Given the description of an element on the screen output the (x, y) to click on. 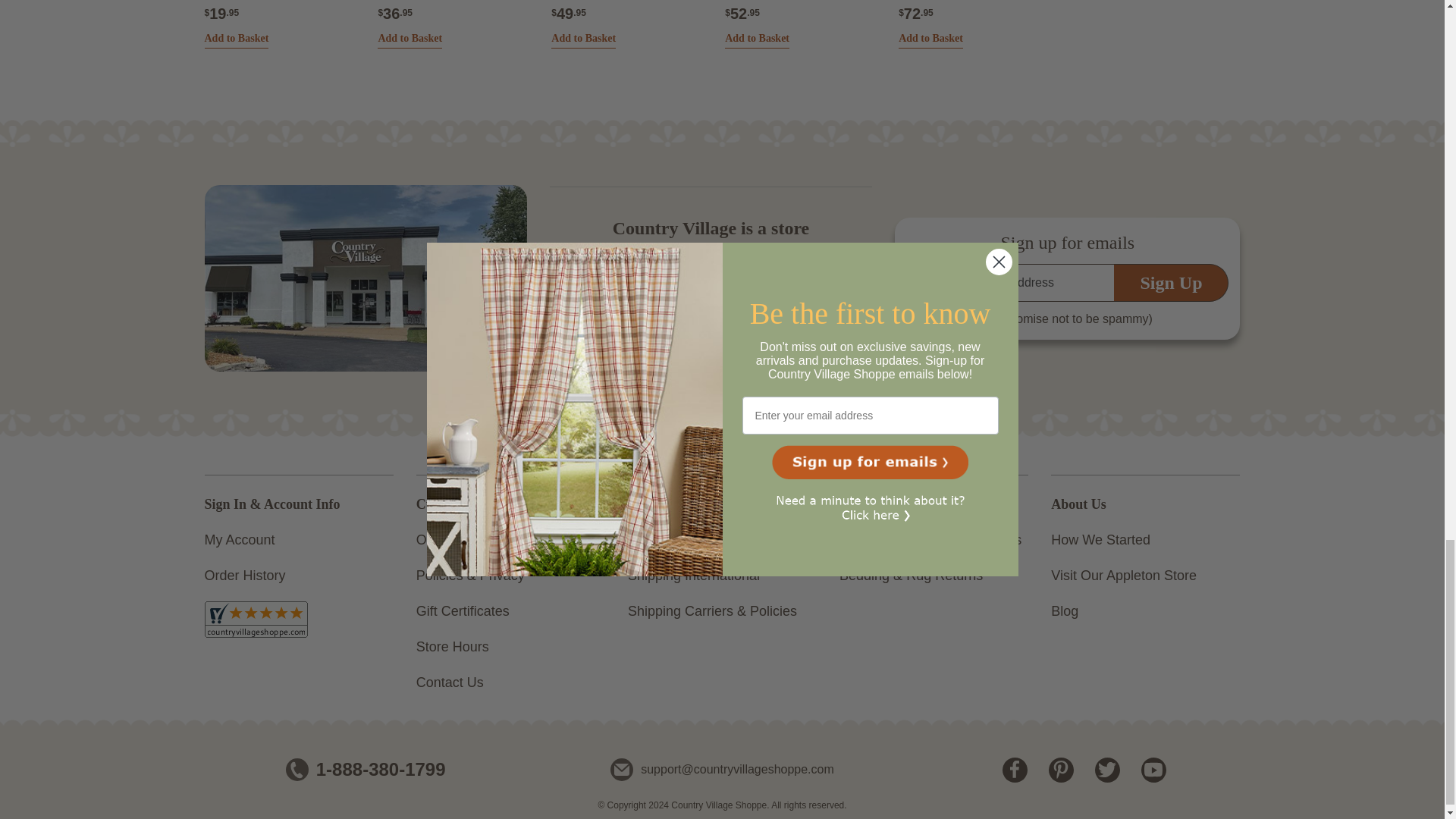
Sign Up (1170, 282)
